Given the description of an element on the screen output the (x, y) to click on. 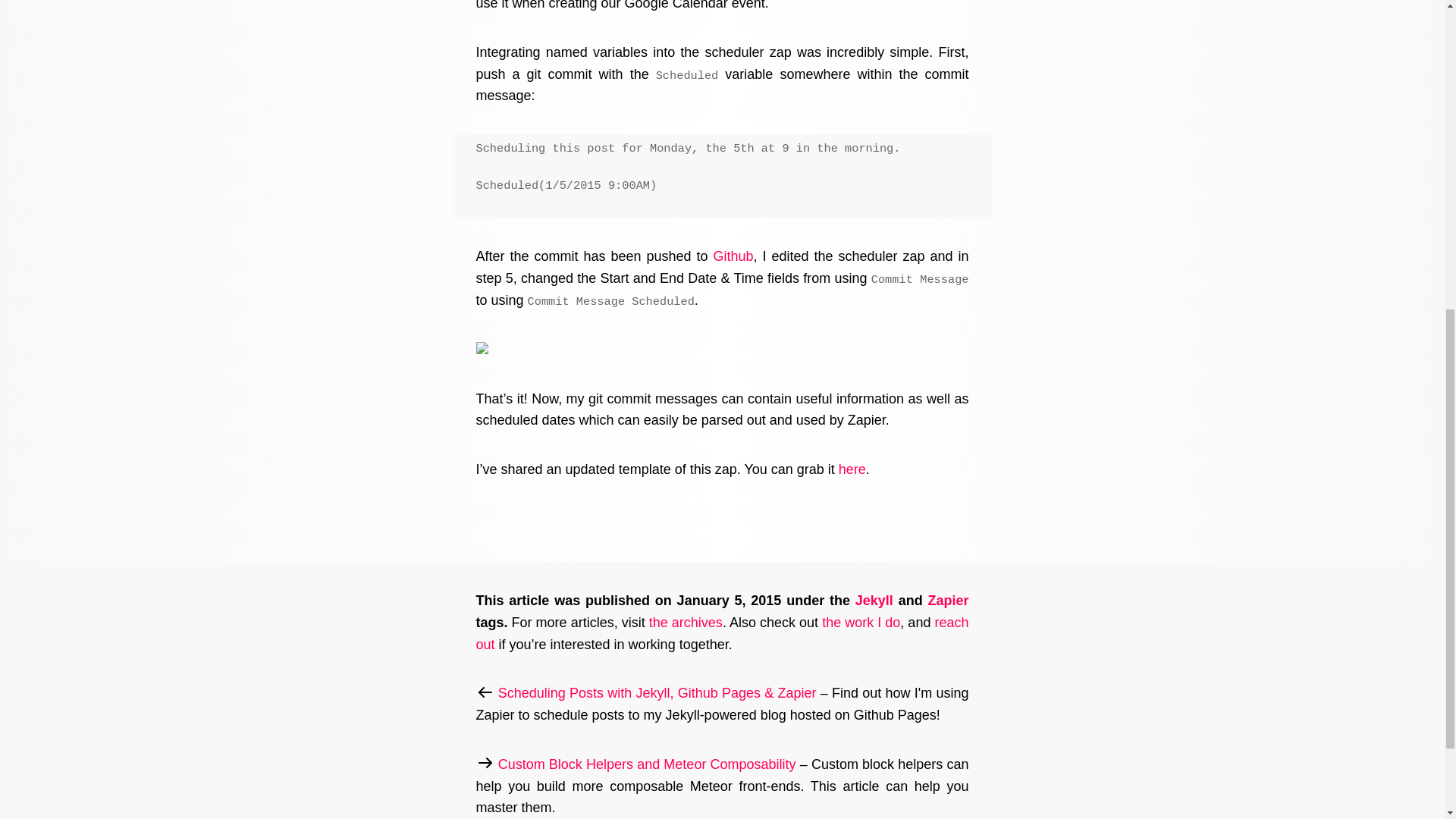
the work I do (860, 622)
Jekyll (874, 600)
reach out (722, 633)
Zapier (947, 600)
Custom Block Helpers and Meteor Composability (646, 764)
the archives (685, 622)
Github (732, 255)
here (852, 468)
